Given the description of an element on the screen output the (x, y) to click on. 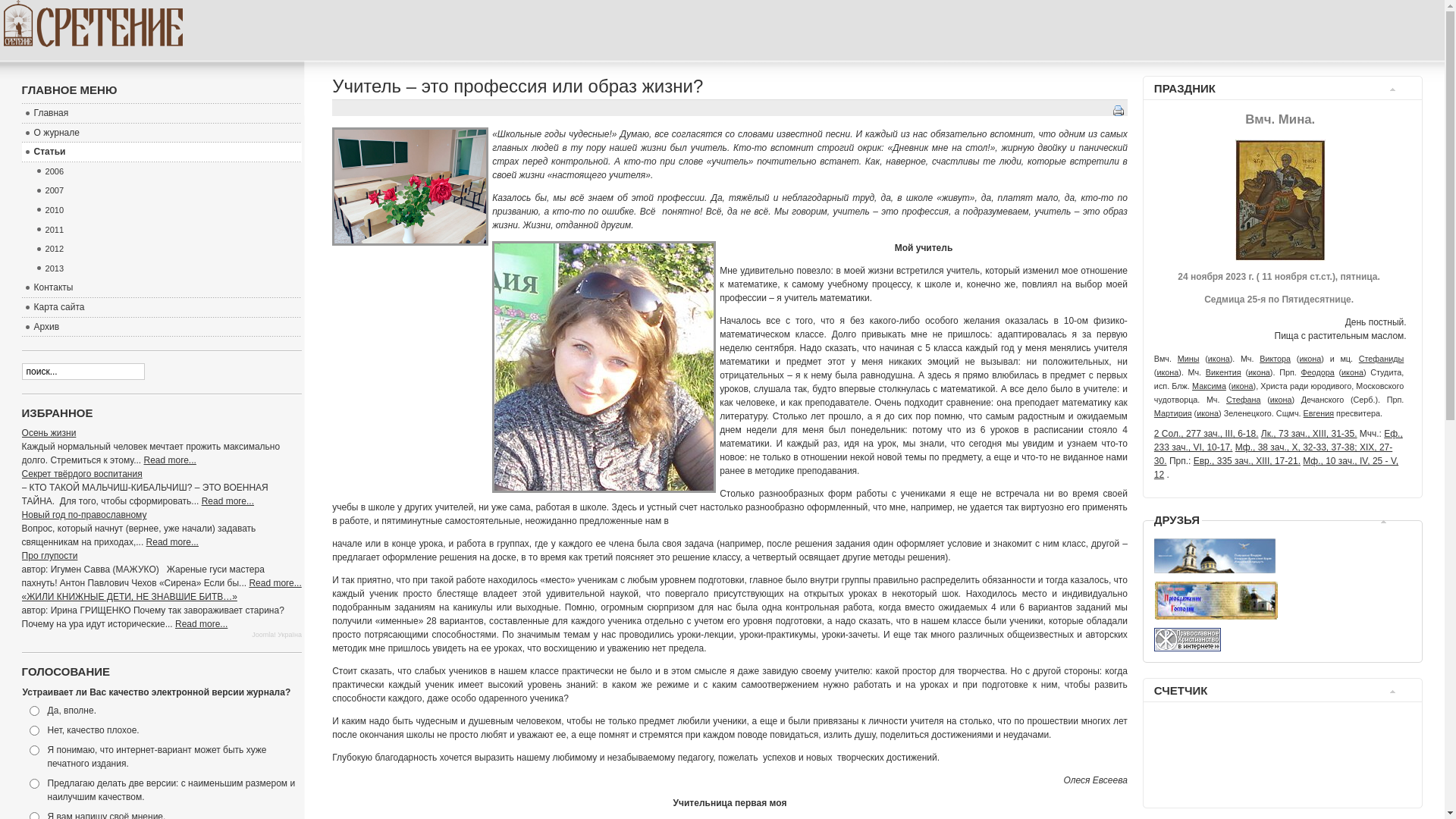
Read more... Element type: text (227, 500)
2007 Element type: text (167, 190)
2006 Element type: text (167, 172)
Read more... Element type: text (274, 582)
2010 Element type: text (167, 210)
Read more... Element type: text (172, 541)
2011 Element type: text (167, 230)
2013 Element type: text (167, 269)
2012 Element type: text (167, 249)
Read more... Element type: text (201, 623)
Read more... Element type: text (170, 460)
